Given the description of an element on the screen output the (x, y) to click on. 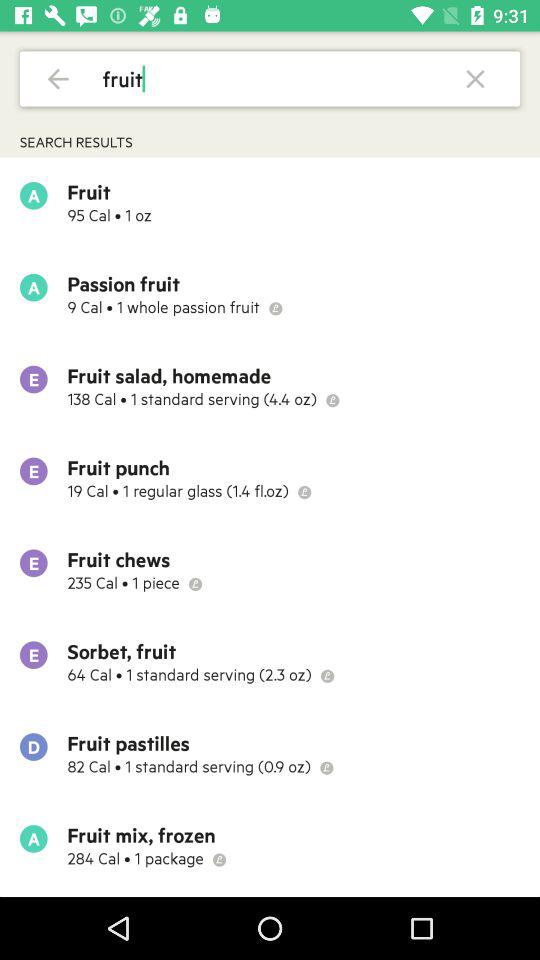
turn off the icon above the search results item (57, 78)
